Given the description of an element on the screen output the (x, y) to click on. 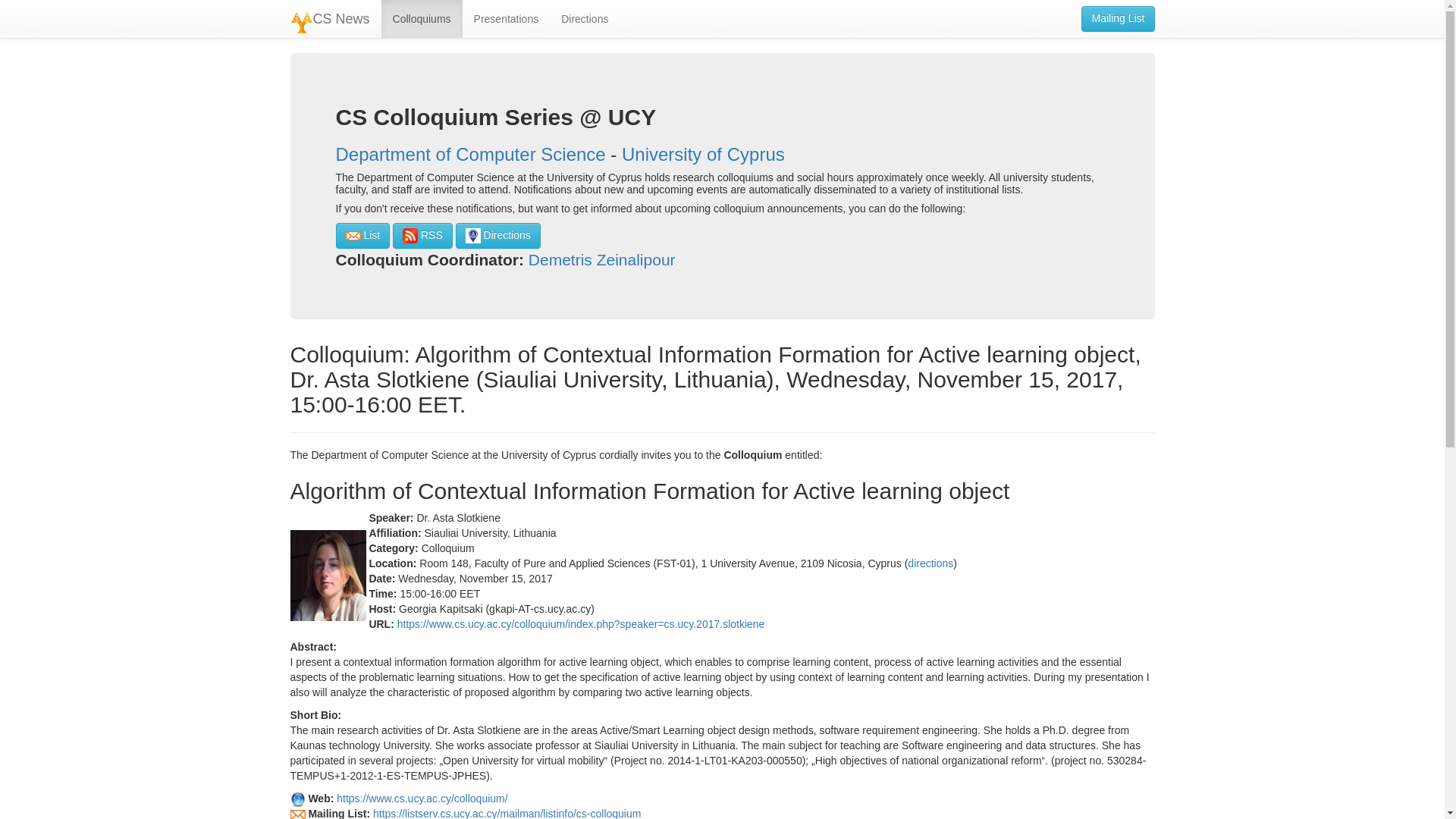
Colloquiums (422, 18)
University of Cyprus (702, 154)
List (362, 235)
Department of Computer Science (469, 154)
Directions (497, 235)
Demetris Zeinalipour (601, 259)
directions (930, 563)
CS News (330, 18)
RSS (422, 235)
Mailing List (1117, 18)
Directions (585, 18)
Presentations (506, 18)
